Given the description of an element on the screen output the (x, y) to click on. 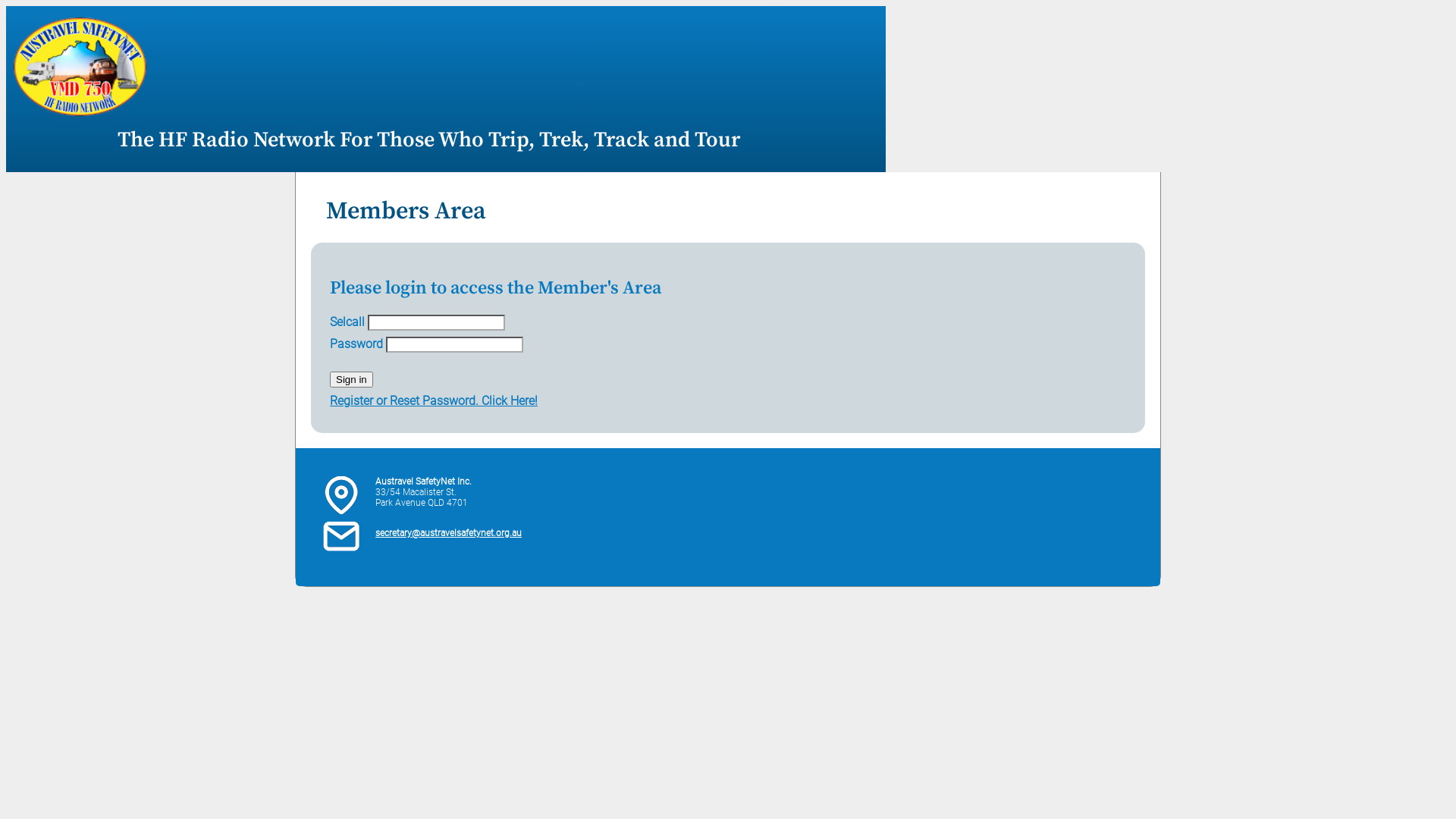
secretary@austravelsafetynet.org.au Element type: text (448, 532)
Register or Reset Password. Click Here! Element type: text (433, 400)
Sign in Element type: text (351, 379)
